Given the description of an element on the screen output the (x, y) to click on. 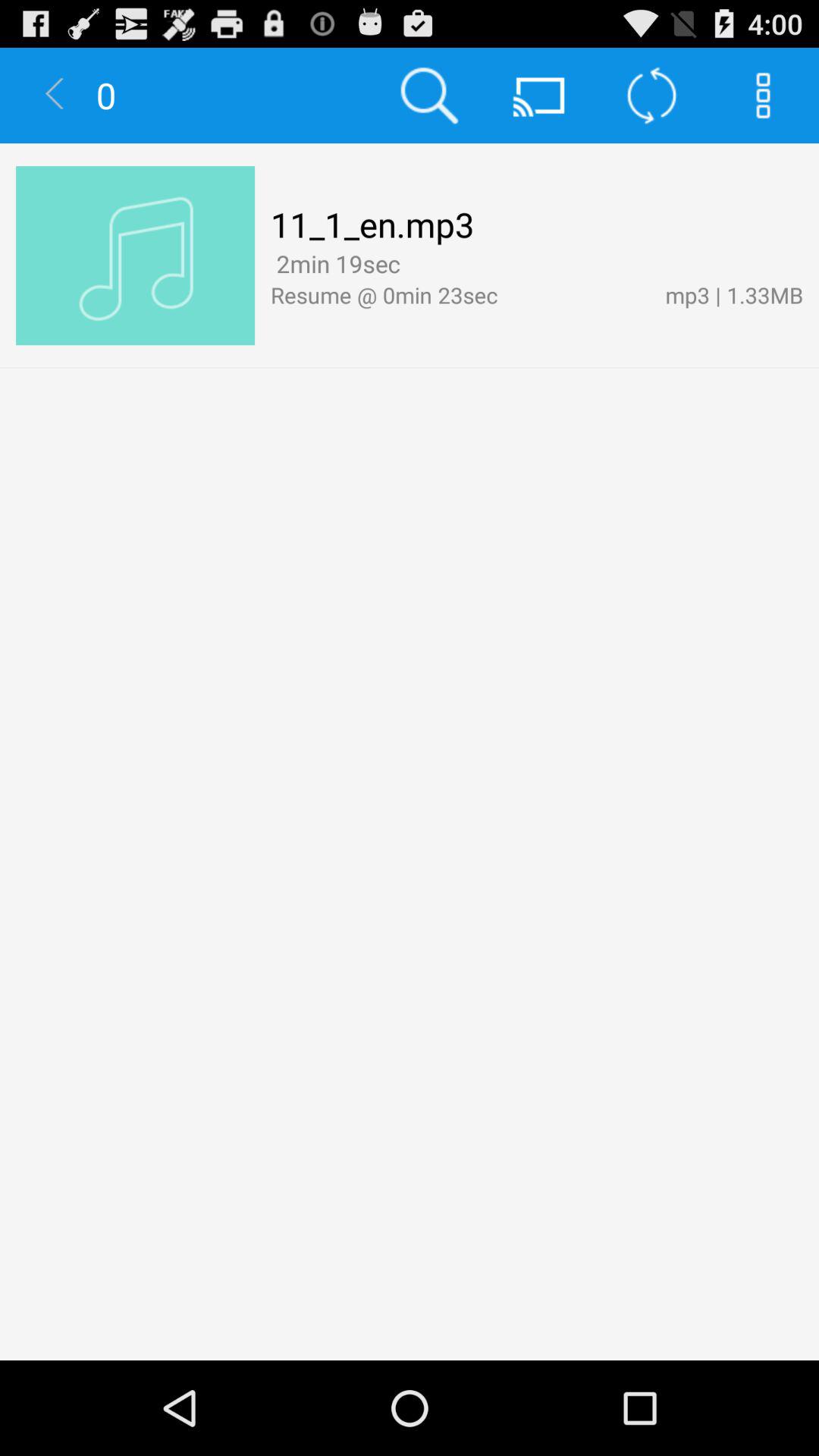
select the app to the left of the mp3 | 1.33mb (411, 265)
